Given the description of an element on the screen output the (x, y) to click on. 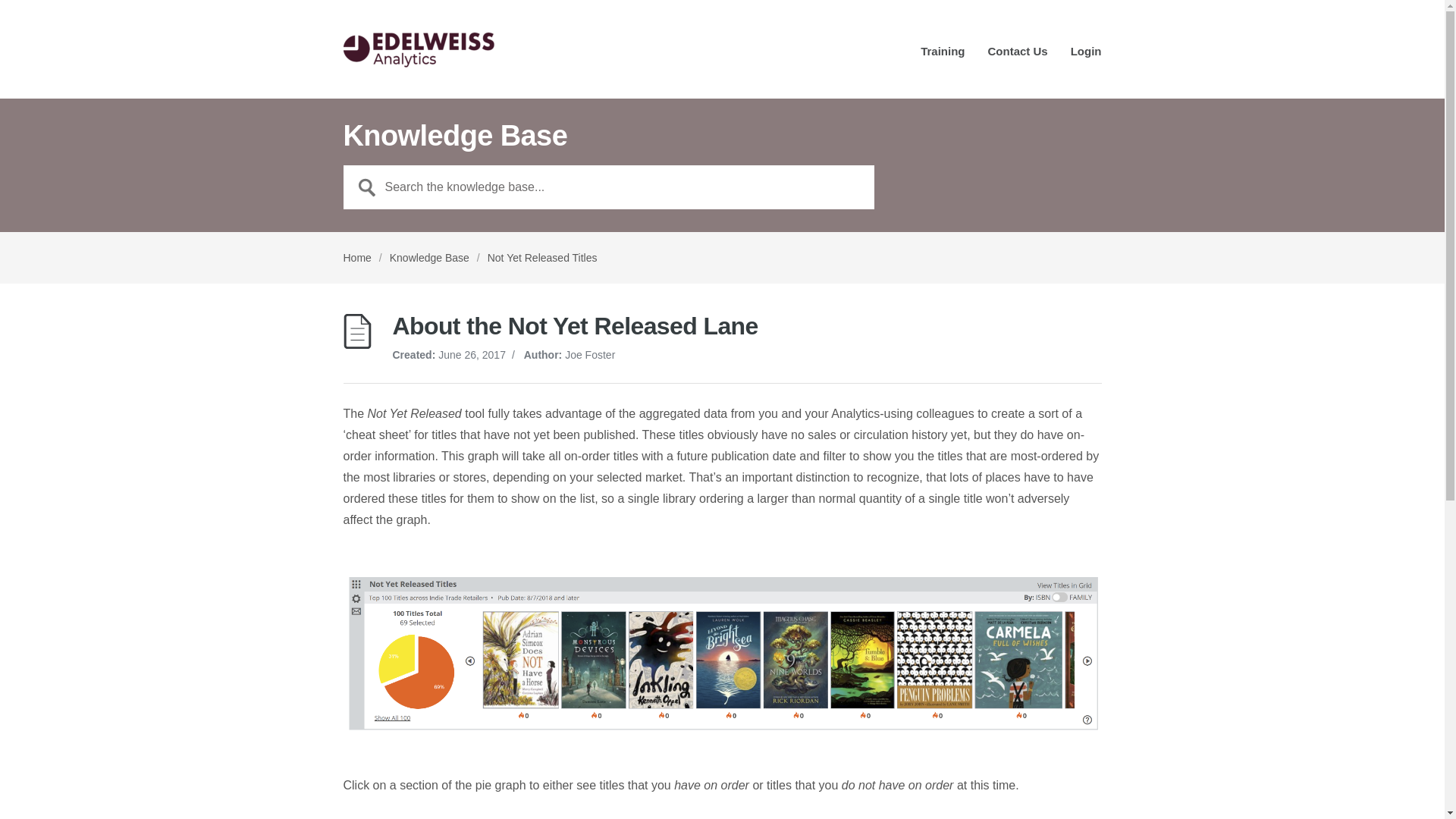
Knowledge Base (429, 257)
Login (1086, 56)
Not Yet Released Titles (541, 257)
Home (356, 257)
Training (941, 56)
Contact Us (1016, 56)
Search the knowledge base... (607, 187)
